Given the description of an element on the screen output the (x, y) to click on. 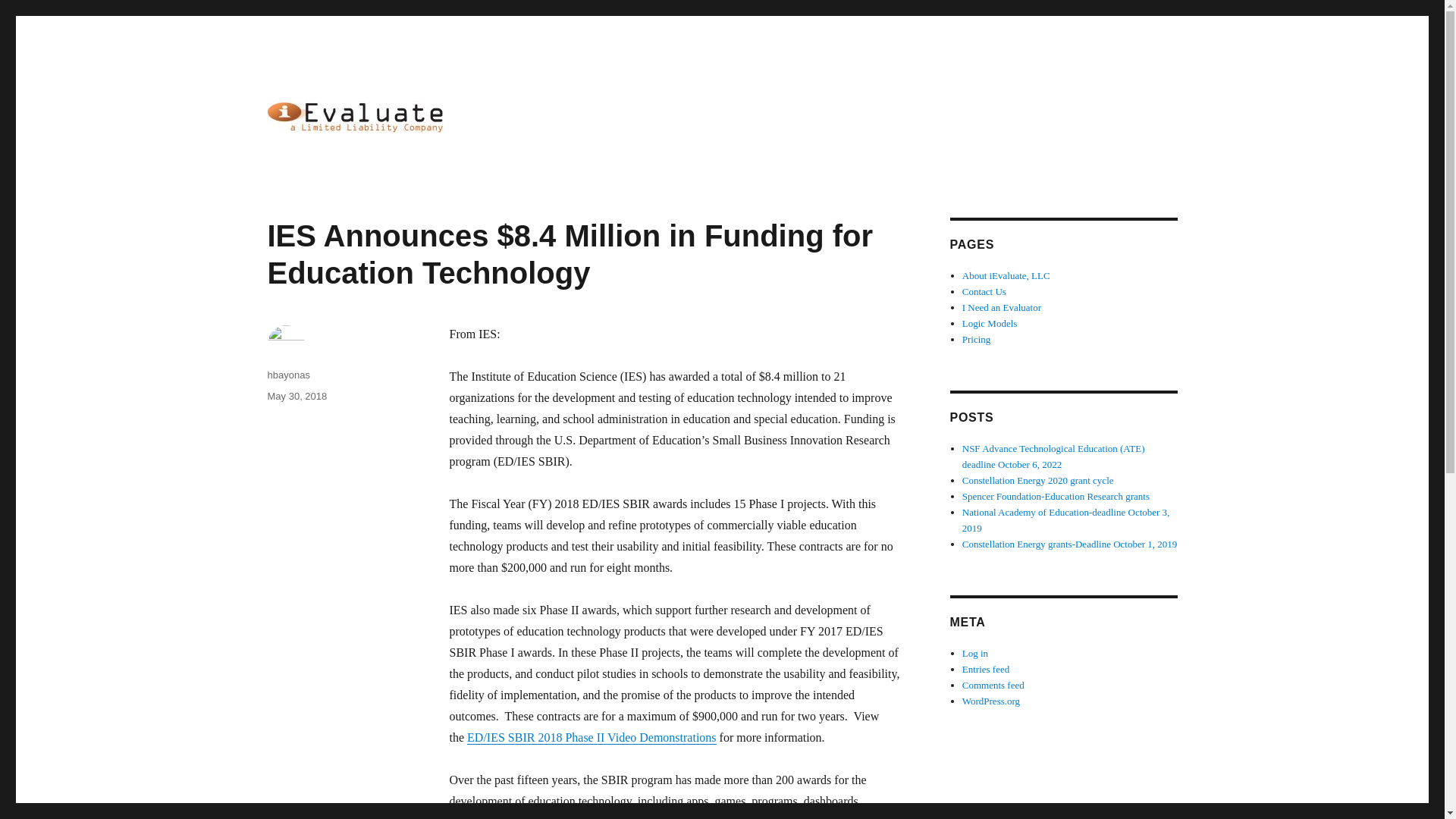
Comments feed (993, 685)
Log in (975, 653)
hbayonas (287, 374)
National Academy of Education-deadline October 3, 2019 (1066, 519)
WordPress.org (991, 700)
Constellation Energy grants-Deadline October 1, 2019 (1069, 543)
Constellation Energy 2020 grant cycle (1037, 480)
Entries feed (985, 668)
Spencer Foundation-Education Research grants (1056, 496)
Pricing (976, 338)
About iEvaluate, LLC (1005, 275)
Logic Models (989, 323)
Contact Us (984, 291)
I Need an Evaluator (1001, 307)
May 30, 2018 (296, 396)
